Given the description of an element on the screen output the (x, y) to click on. 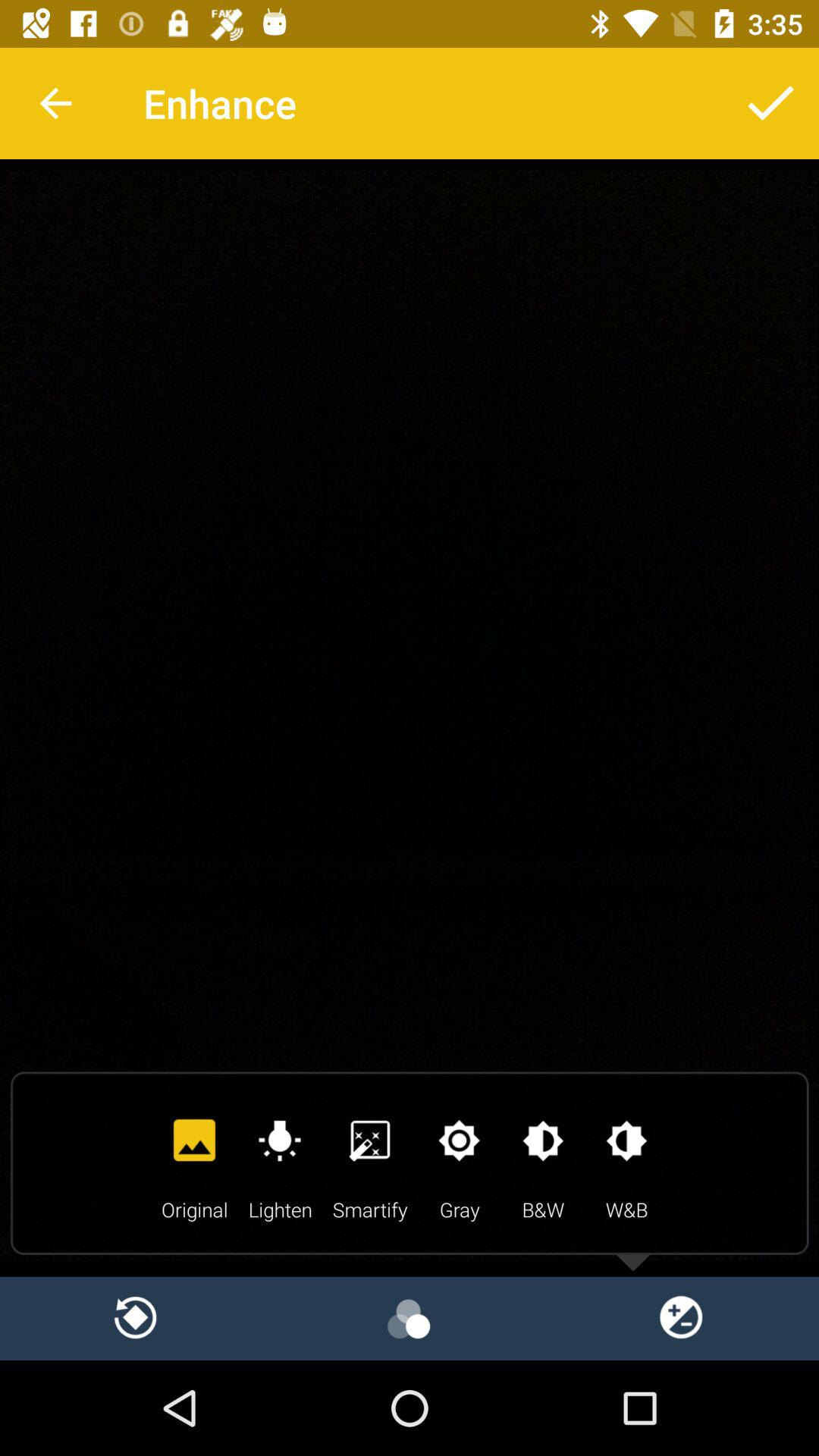
replay option (136, 1318)
